Given the description of an element on the screen output the (x, y) to click on. 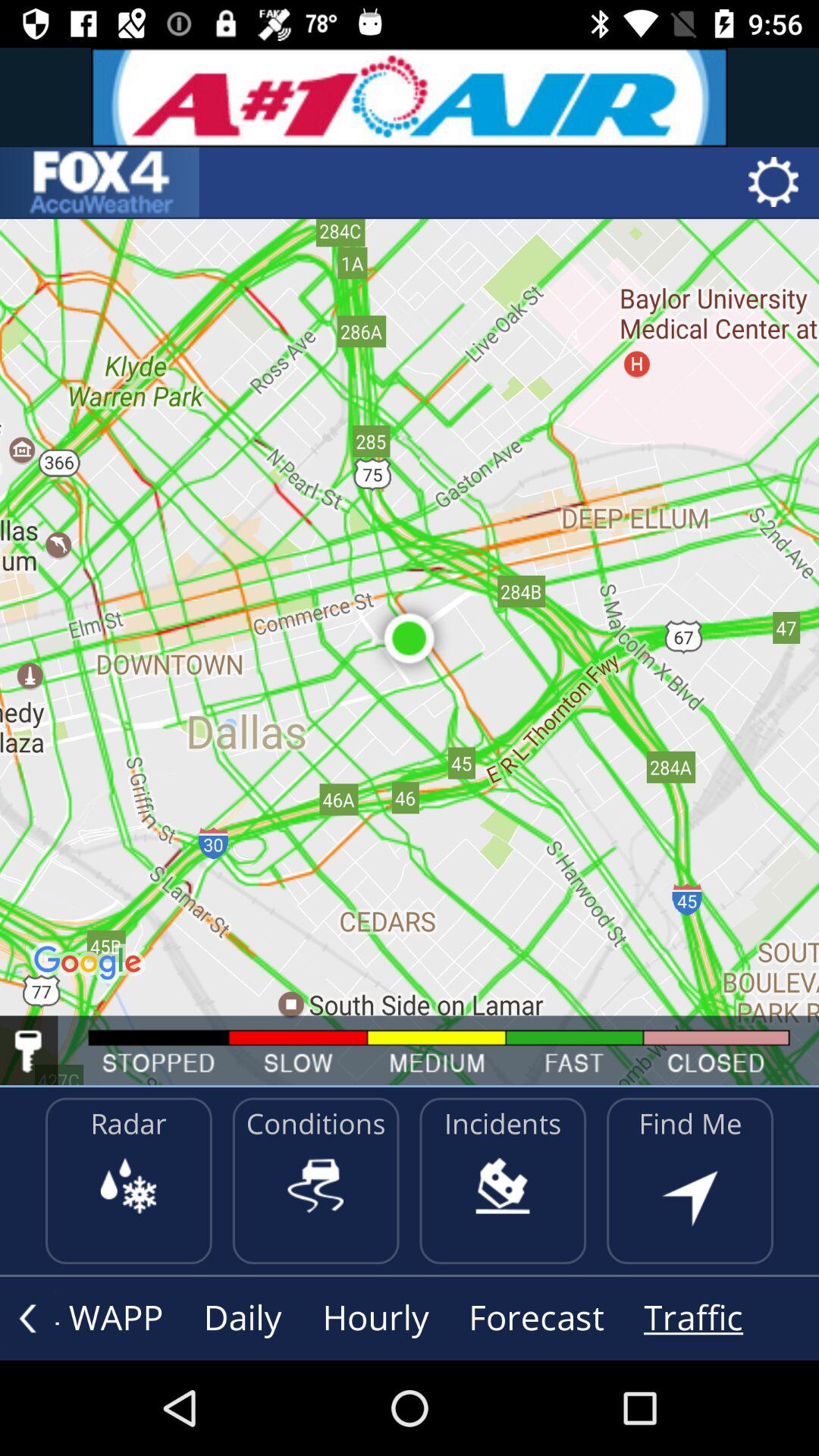
current location of motor vehicle (29, 1051)
